Given the description of an element on the screen output the (x, y) to click on. 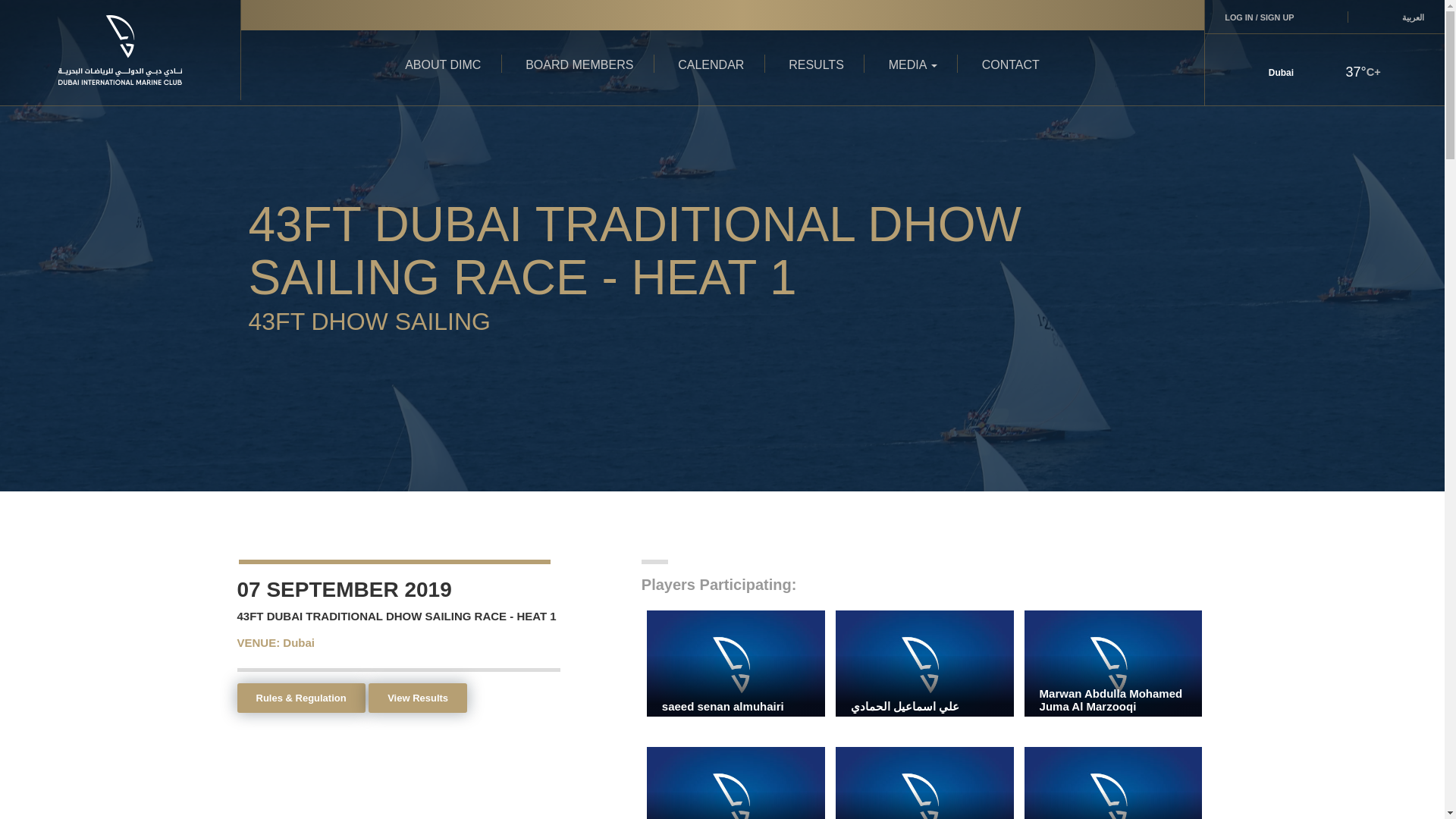
CONTACT (1010, 64)
BOARD MEMBERS (579, 64)
ABOUT DIMC (443, 64)
Marwan Abdulla Mohamed Juma Al Marzooqi (924, 782)
Marwan Abdulla Mohamed Juma Al Marzooqi (735, 782)
Dubai (1288, 71)
saeed senan almuhairi (735, 663)
Dubai (298, 642)
Marwan Abdulla Mohamed Juma Al Marzooqi (1113, 663)
Marwan Abdulla Mohamed Juma Al Marzooqi (1113, 782)
View Results (417, 698)
RESULTS (816, 64)
CALENDAR (711, 64)
MEDIA (912, 64)
